Given the description of an element on the screen output the (x, y) to click on. 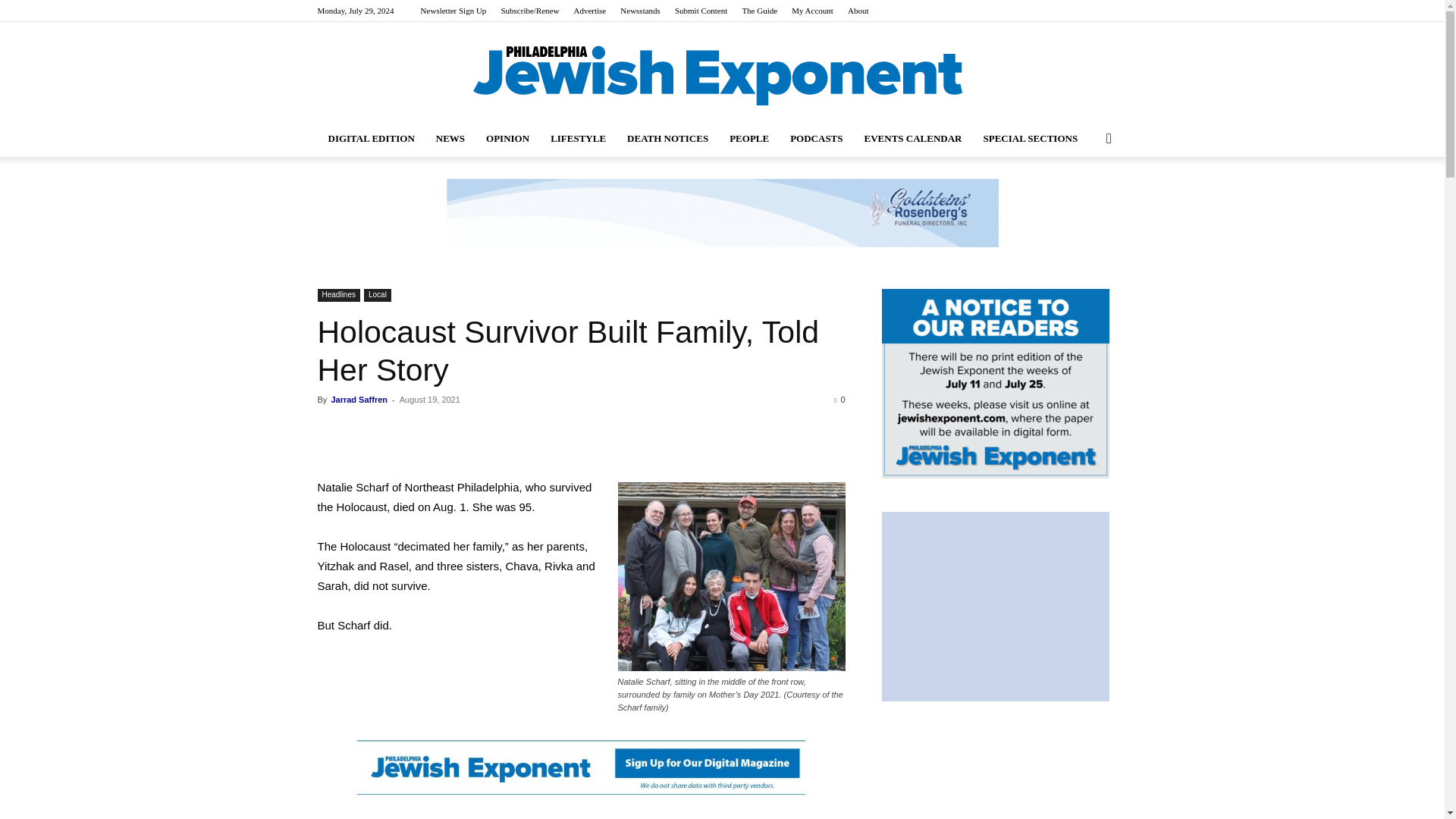
Newsletter Sign Up (453, 10)
